Given the description of an element on the screen output the (x, y) to click on. 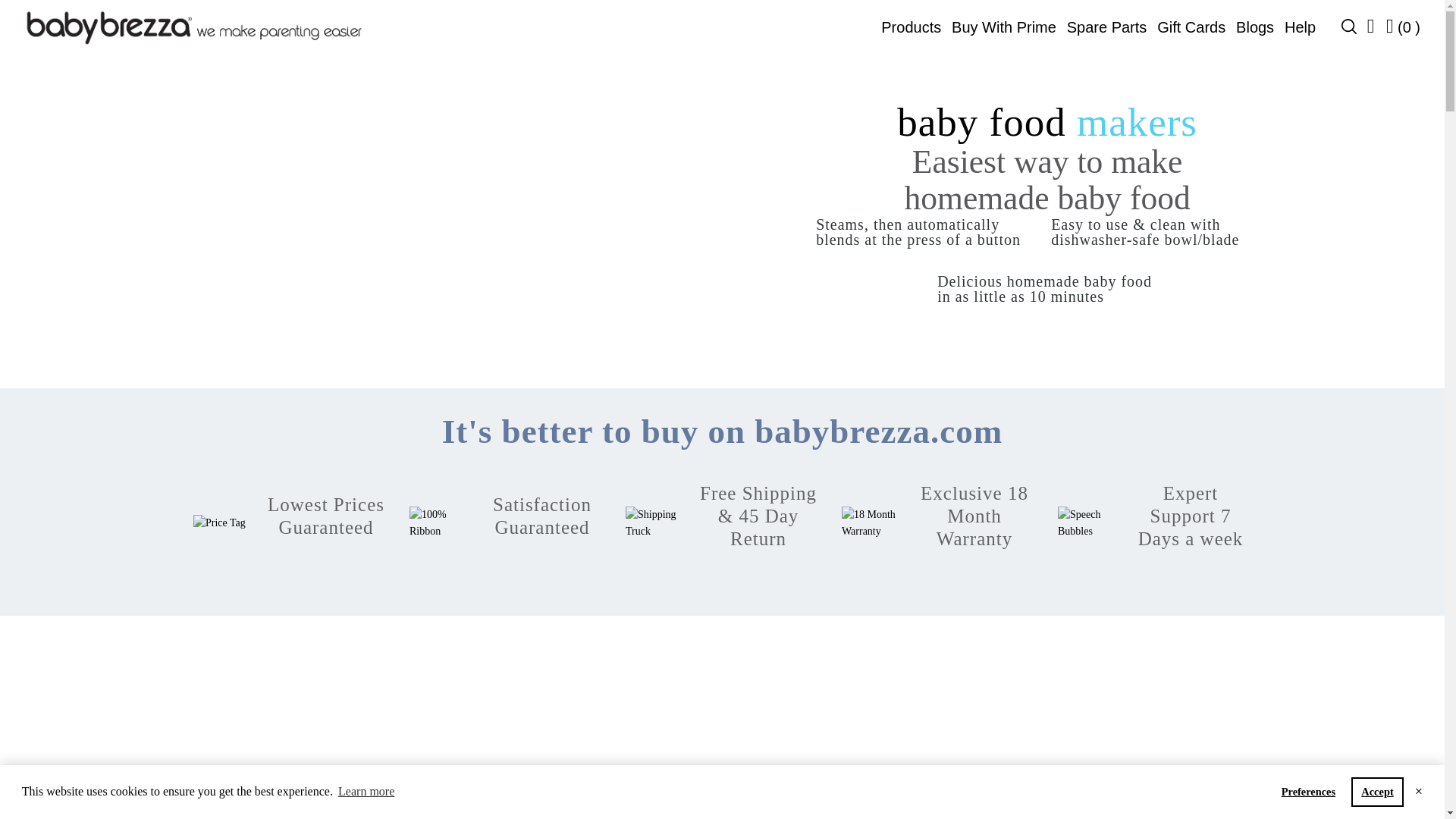
Preferences (1308, 791)
Learn more (366, 791)
Accept (1377, 791)
Gift Cards (1191, 27)
Spare Parts (1107, 27)
Products (910, 27)
Buy With Prime (1004, 27)
